Given the description of an element on the screen output the (x, y) to click on. 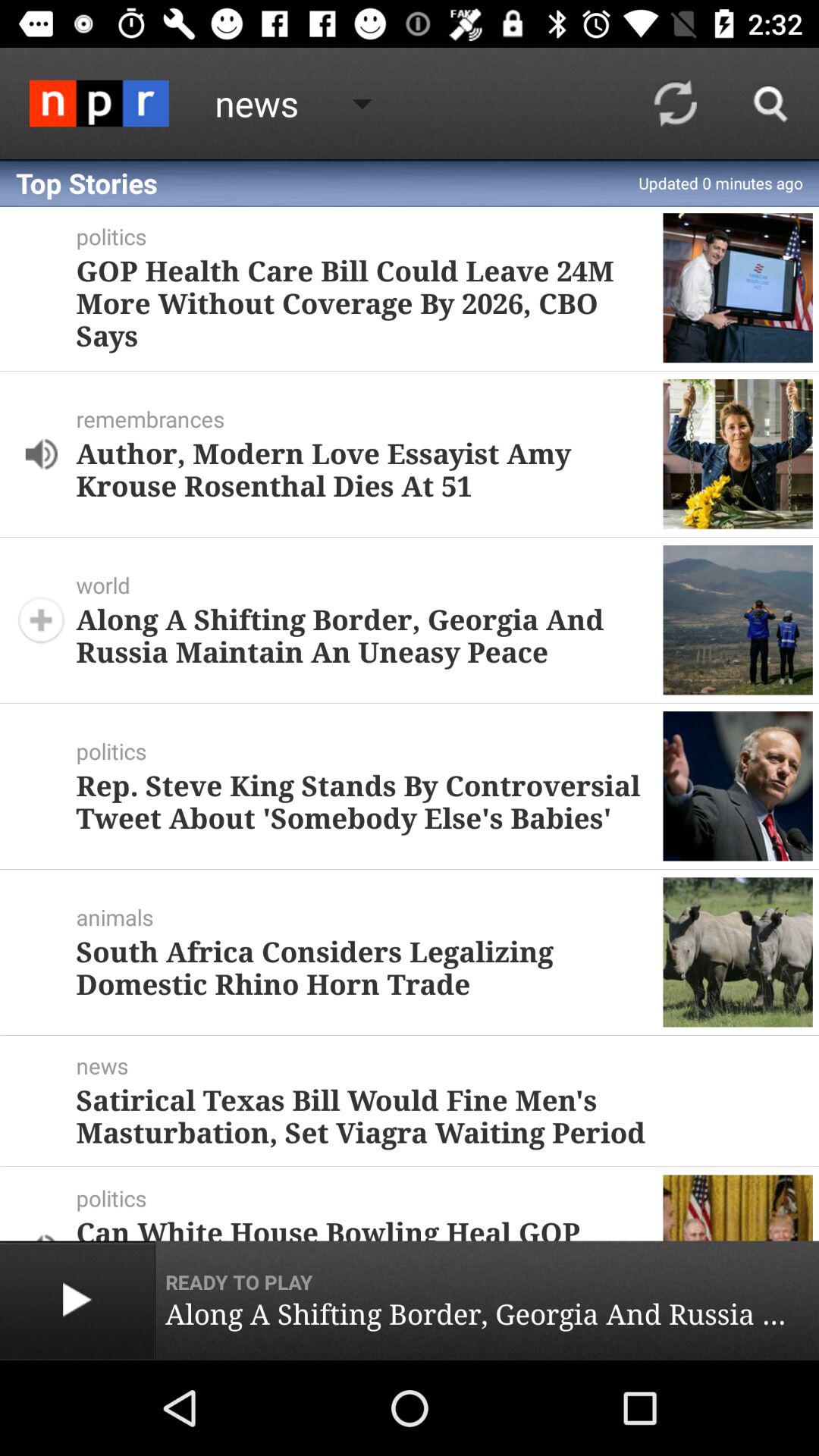
scroll to animals (369, 917)
